Given the description of an element on the screen output the (x, y) to click on. 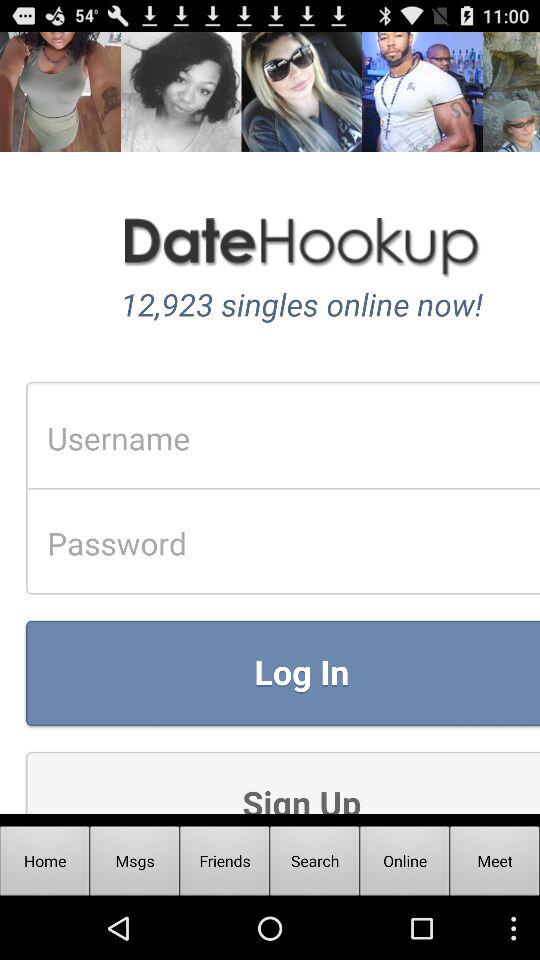
login to the app (270, 422)
